Given the description of an element on the screen output the (x, y) to click on. 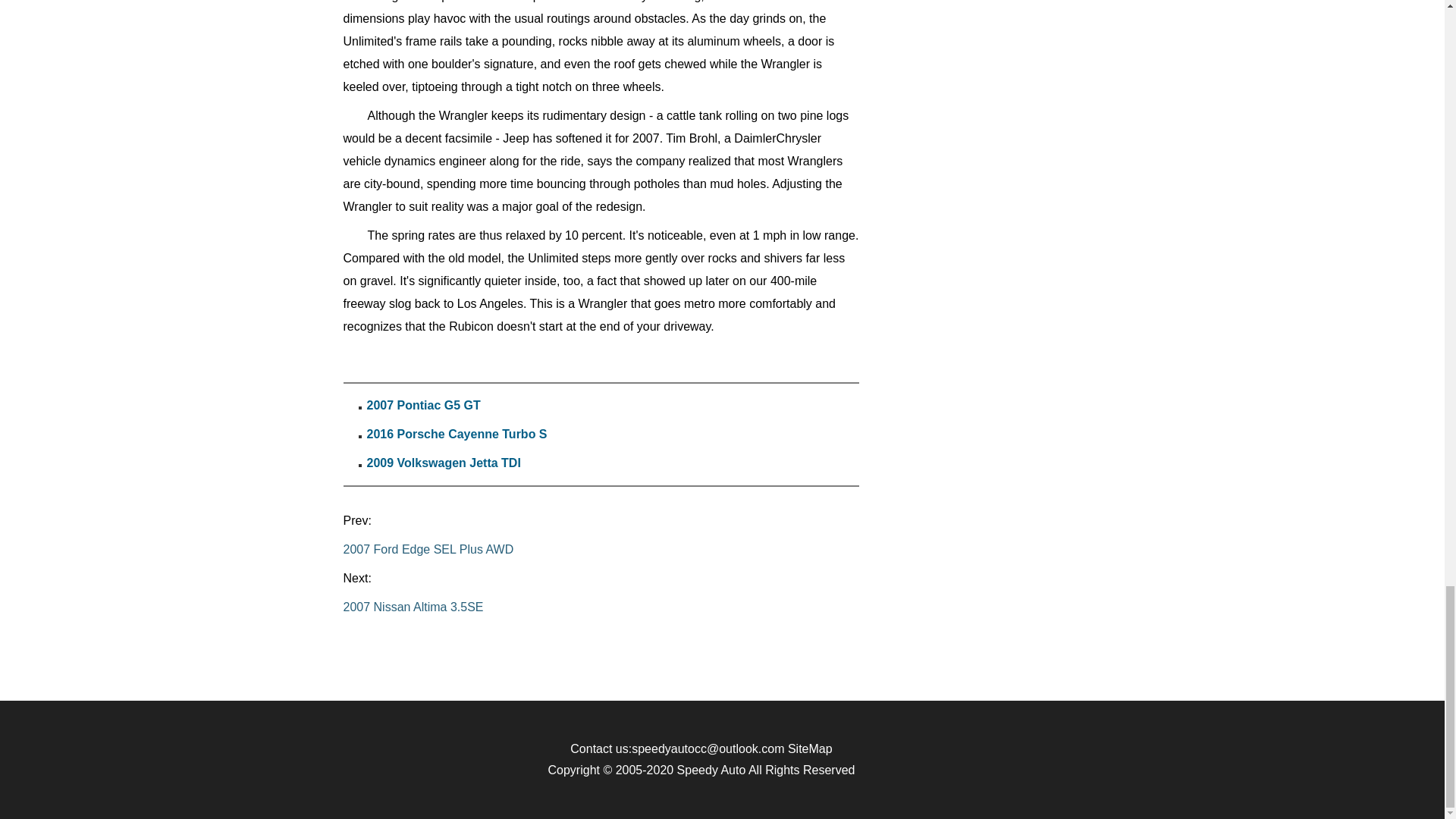
2009 Volkswagen Jetta TDI (443, 462)
2007 Nissan Altima 3.5SE (600, 606)
SiteMap (809, 748)
2016 Porsche Cayenne Turbo S (456, 433)
2007 Pontiac G5 GT (423, 404)
2007 Ford Edge SEL Plus AWD (600, 549)
